Given the description of an element on the screen output the (x, y) to click on. 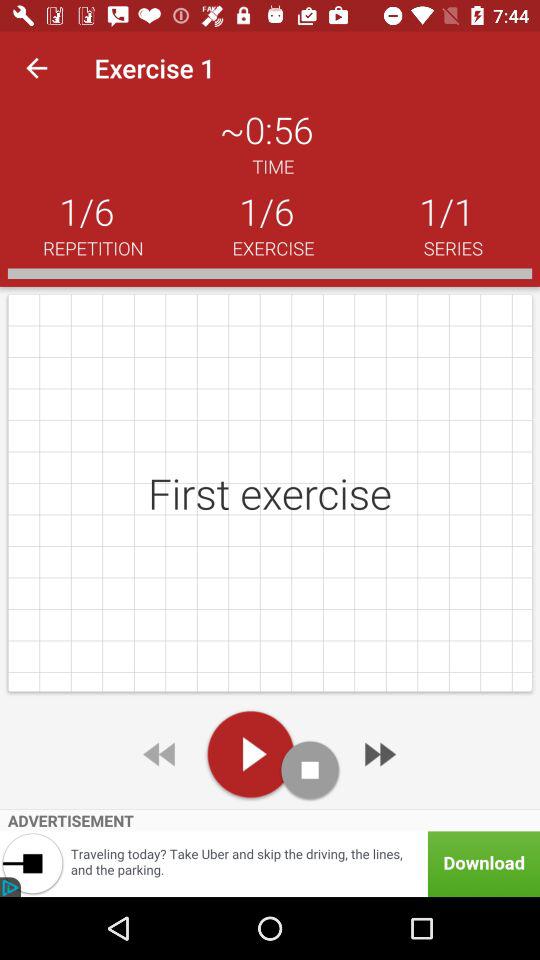
next exercise (378, 754)
